Given the description of an element on the screen output the (x, y) to click on. 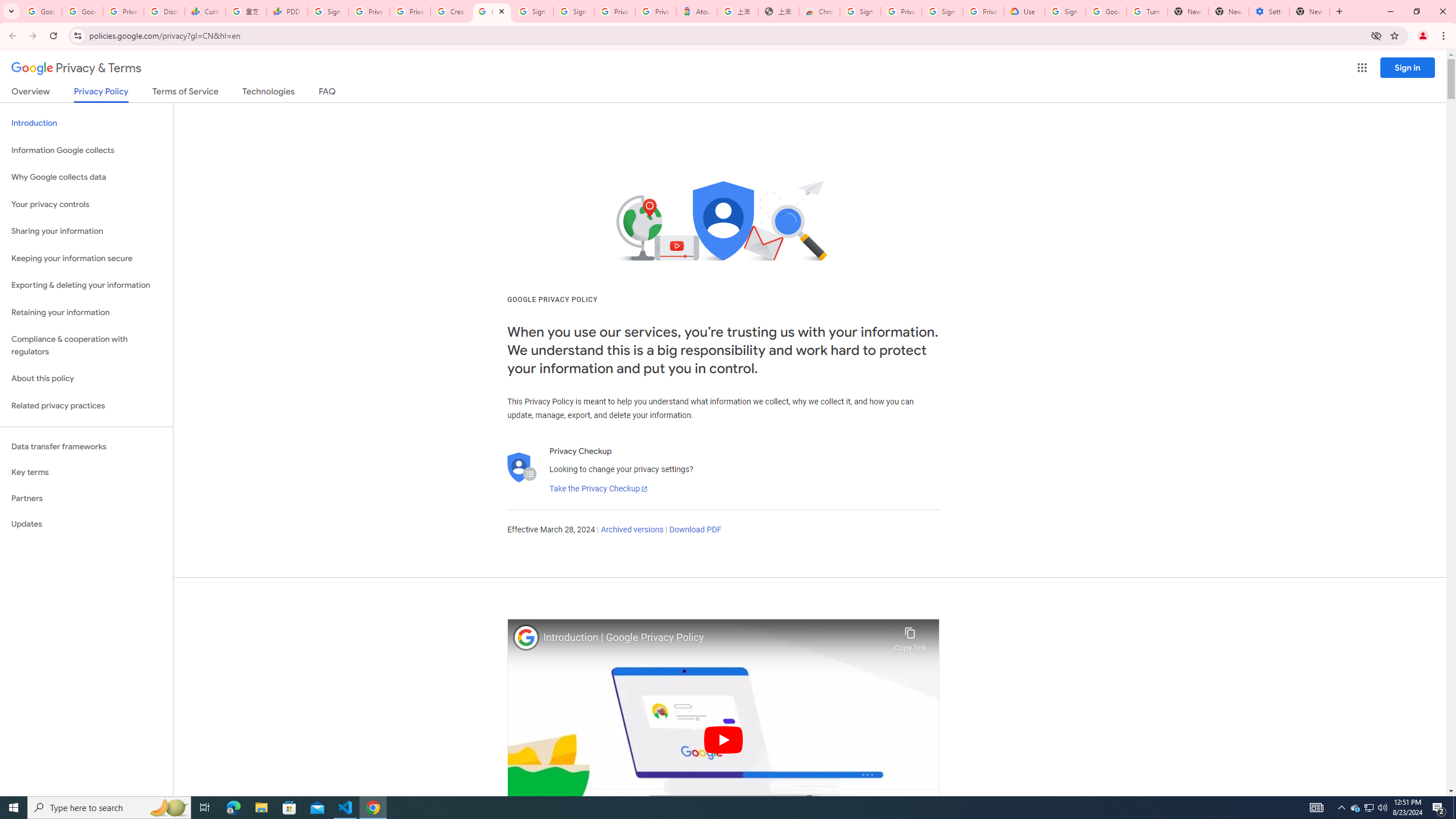
Create your Google Account (450, 11)
PDD Holdings Inc - ADR (PDD) Price & News - Google Finance (287, 11)
Copy link (909, 636)
